Given the description of an element on the screen output the (x, y) to click on. 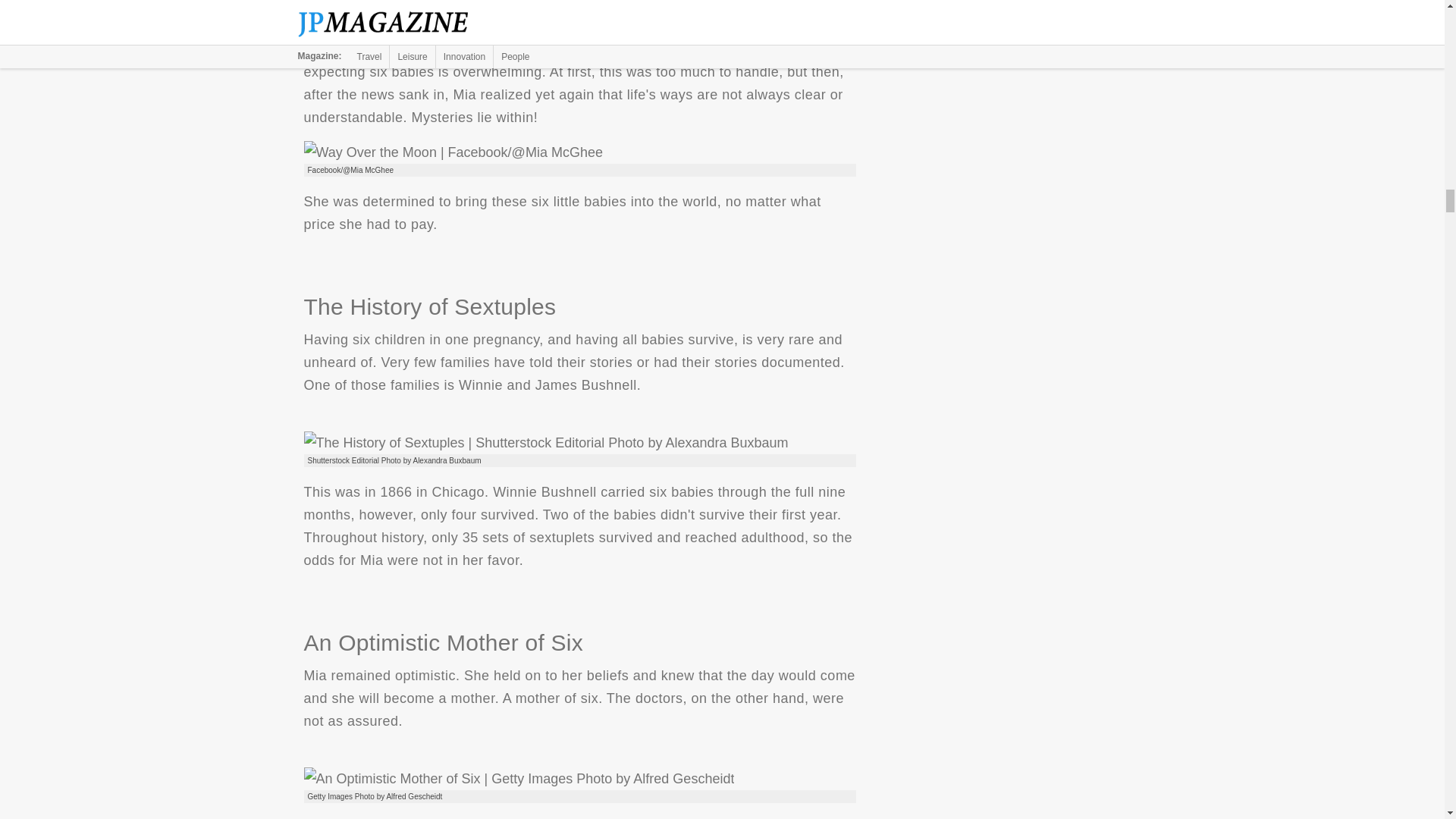
An Optimistic Mother of Six (517, 778)
Way Over the Moon (452, 151)
The History of Sextuples (544, 442)
